Given the description of an element on the screen output the (x, y) to click on. 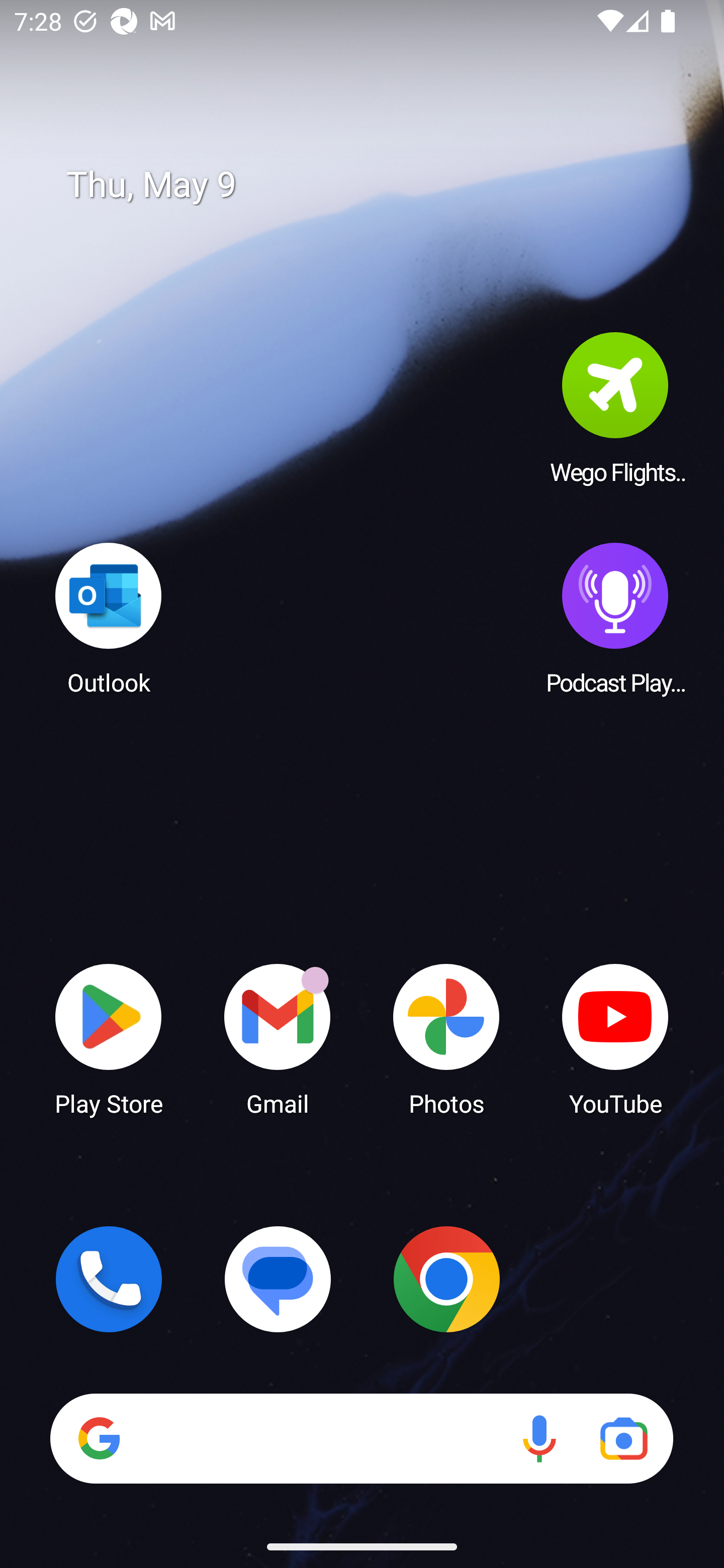
Thu, May 9 (375, 184)
Wego Flights & Hotels (615, 407)
Outlook (108, 617)
Podcast Player (615, 617)
Play Store (108, 1038)
Gmail Gmail has 18 notifications (277, 1038)
Photos (445, 1038)
YouTube (615, 1038)
Phone (108, 1279)
Messages (277, 1279)
Chrome (446, 1279)
Search Voice search Google Lens (361, 1438)
Voice search (539, 1438)
Google Lens (623, 1438)
